Given the description of an element on the screen output the (x, y) to click on. 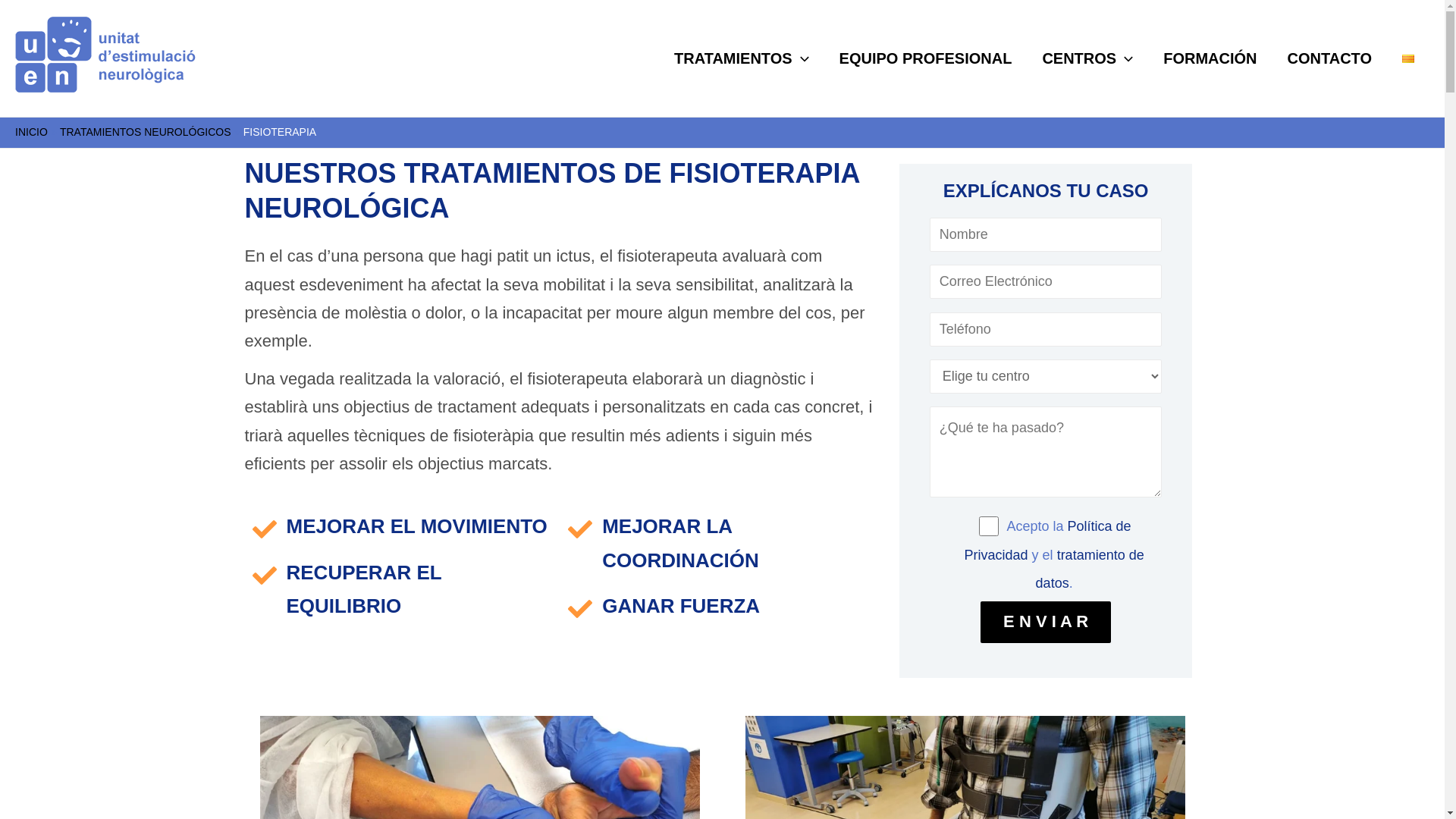
E N V I A R Element type: text (1045, 622)
tratamiento de datos Element type: text (1089, 568)
INICIO Element type: text (31, 131)
TRATAMIENTOS Element type: text (741, 57)
CONTACTO Element type: text (1329, 57)
EQUIPO PROFESIONAL Element type: text (925, 57)
CENTROS Element type: text (1087, 57)
